Given the description of an element on the screen output the (x, y) to click on. 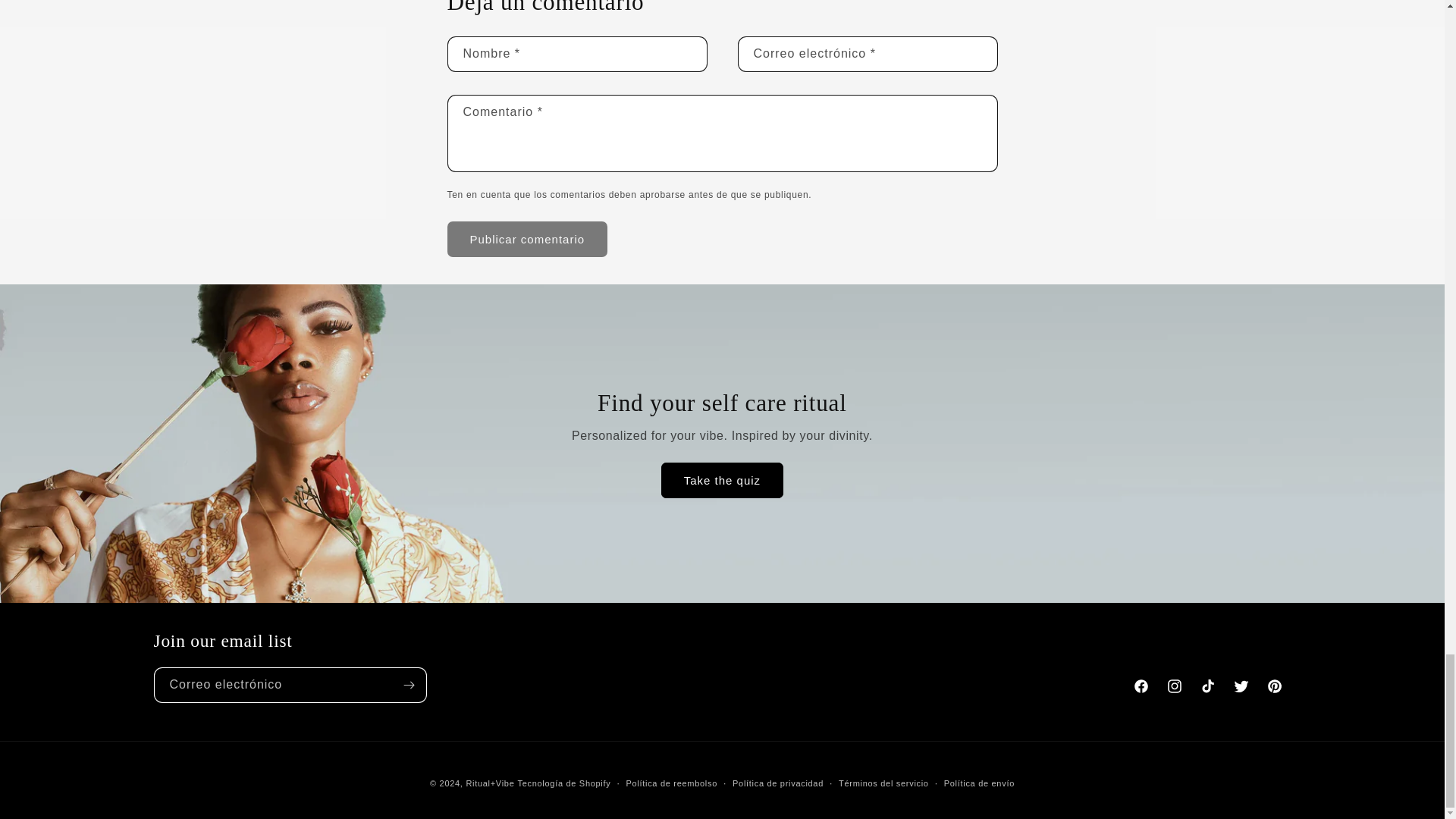
Publicar comentario (527, 239)
